Given the description of an element on the screen output the (x, y) to click on. 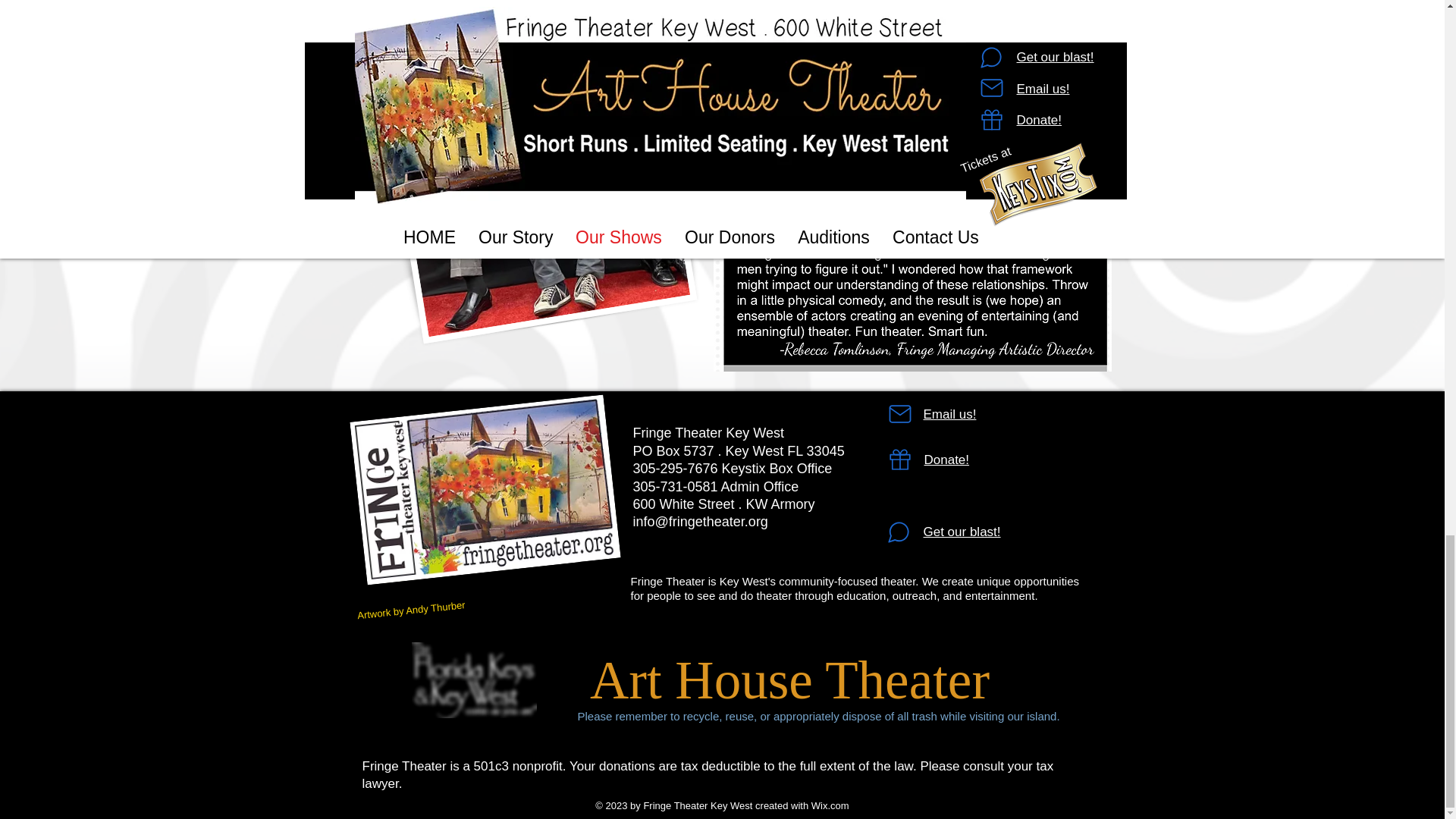
Wix.com (829, 805)
Email us! (949, 414)
Donate! (946, 459)
Get our blast! (962, 531)
